Given the description of an element on the screen output the (x, y) to click on. 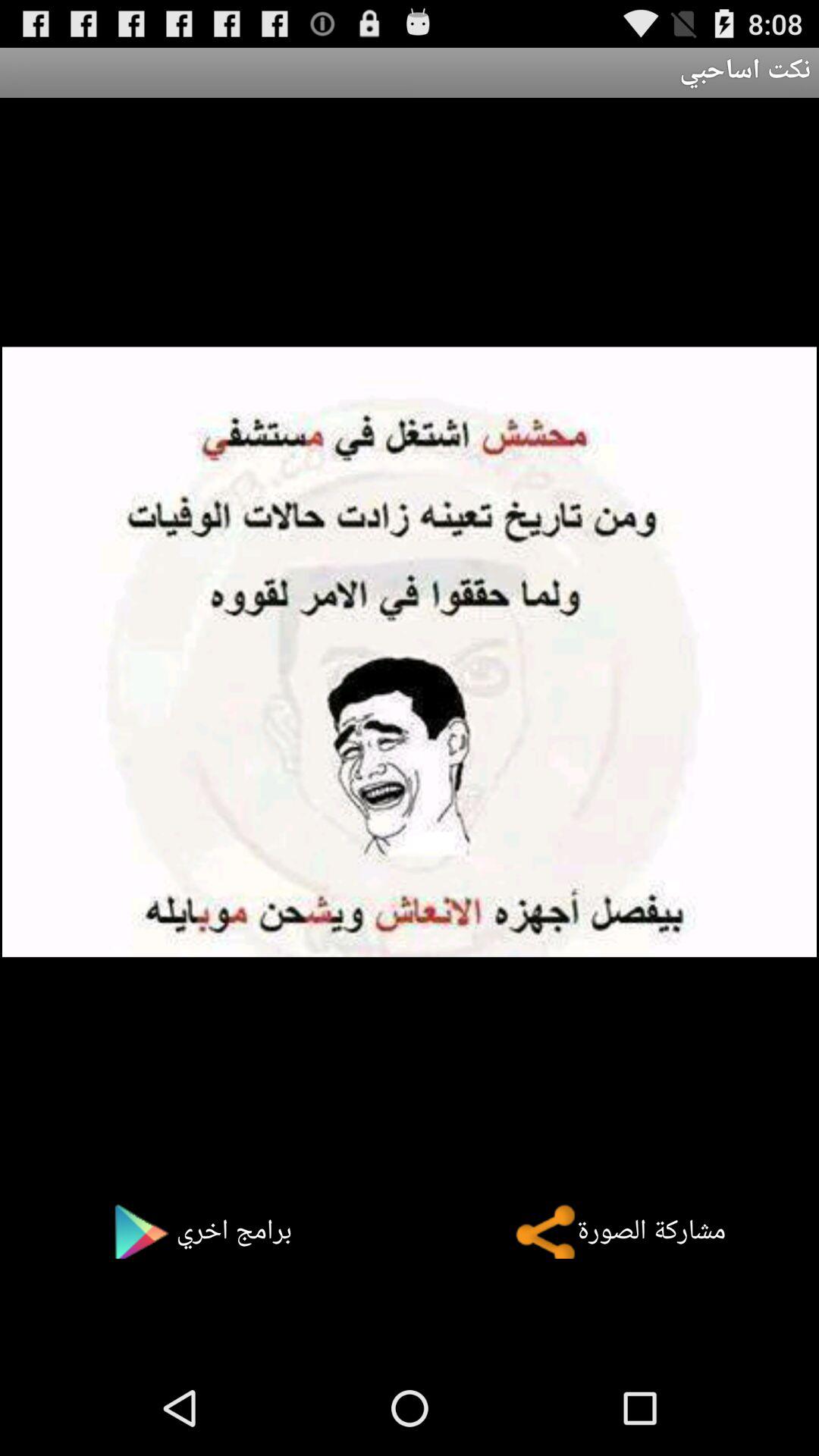
click the item at the bottom right corner (609, 1231)
